Given the description of an element on the screen output the (x, y) to click on. 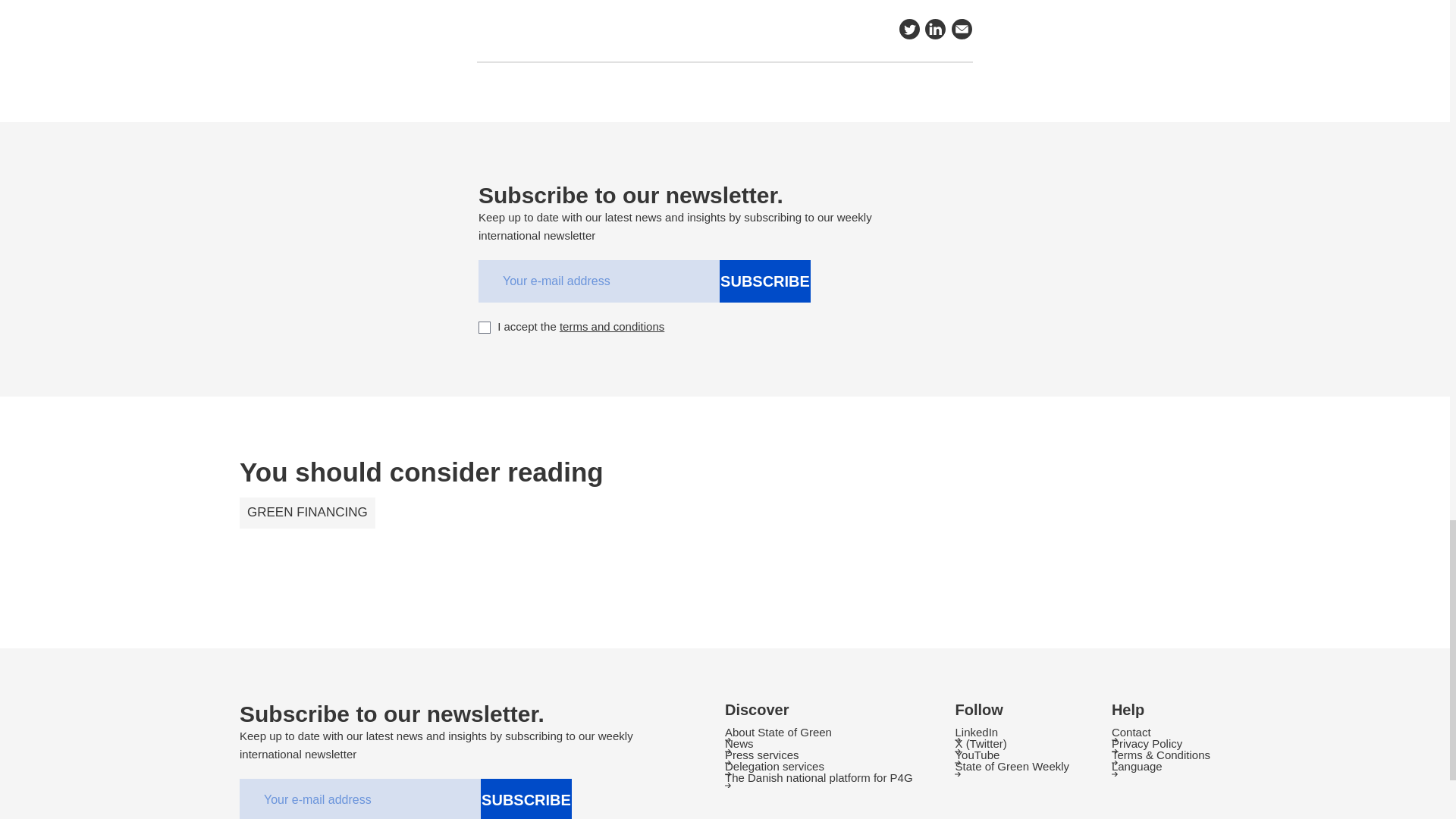
on (484, 327)
